Given the description of an element on the screen output the (x, y) to click on. 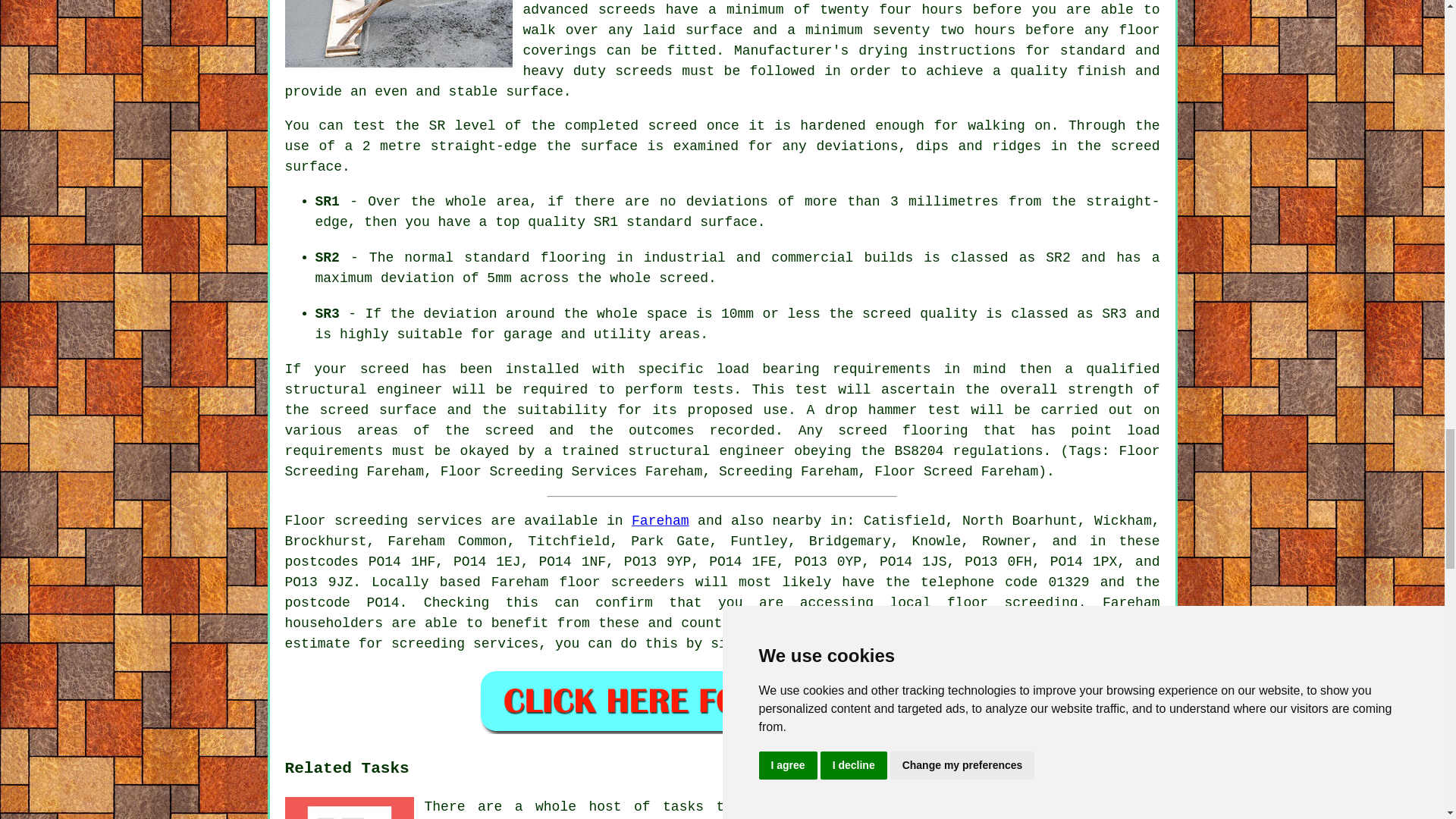
Screeding Related Tasks Fareham (349, 807)
floor screeders (621, 581)
floor screeding (1012, 602)
services (911, 622)
Book a Screeder in Fareham UK (722, 700)
